Given the description of an element on the screen output the (x, y) to click on. 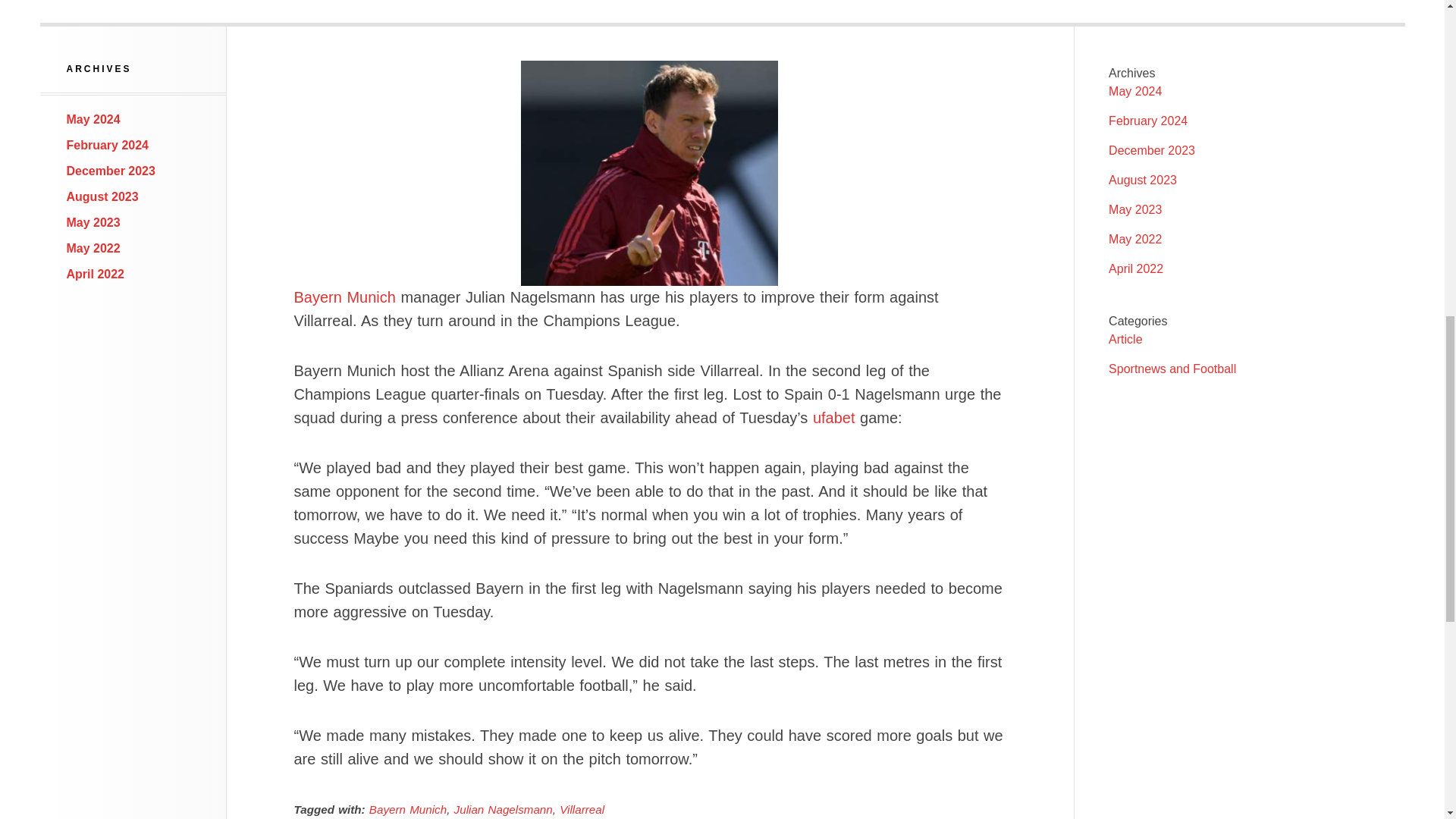
April 2022 (1135, 268)
May 2023 (1134, 209)
May 2024 (93, 119)
August 2023 (102, 196)
May 2023 (93, 222)
Julian Nagelsmann (503, 809)
Bayern Munich (407, 809)
December 2023 (1151, 150)
May 2022 (93, 247)
August 2023 (1142, 179)
